Given the description of an element on the screen output the (x, y) to click on. 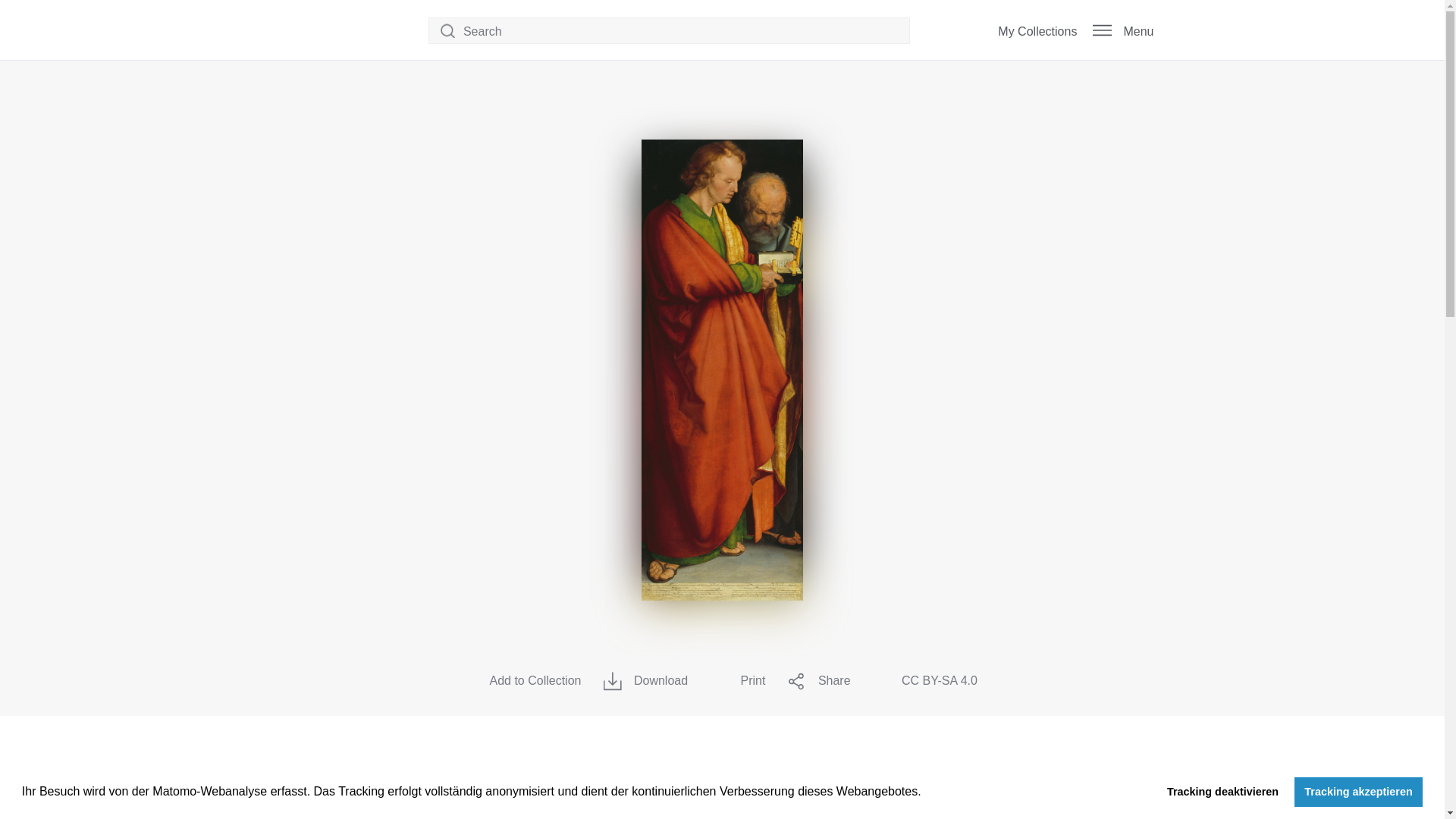
CC BY-SA 4.0 (929, 681)
Print (741, 681)
Download (649, 681)
Add to Collection (523, 681)
Tracking deaktivieren (1222, 791)
My Collections (1021, 31)
Tracking akzeptieren (1358, 791)
